Given the description of an element on the screen output the (x, y) to click on. 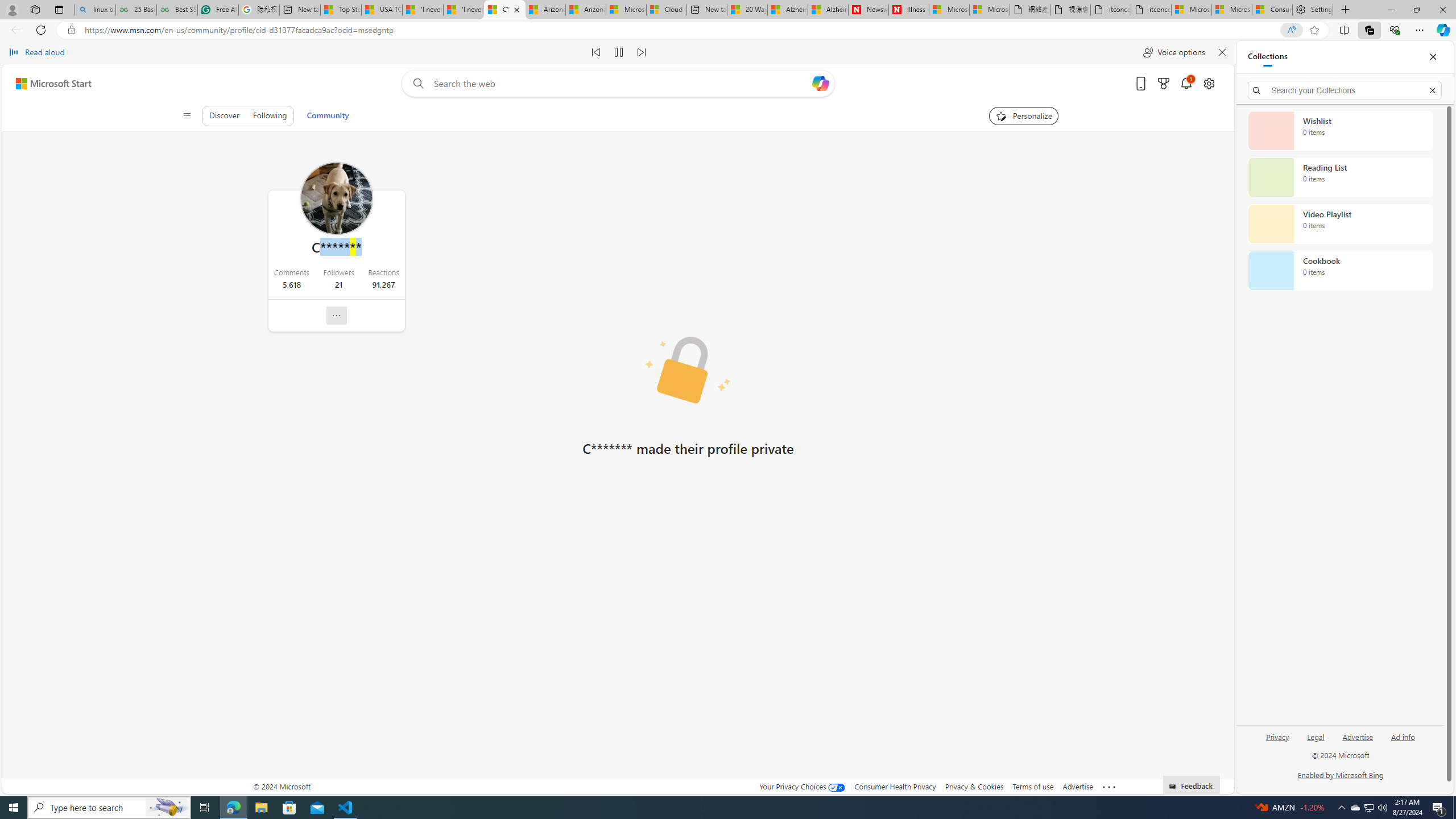
Read previous paragraph (596, 52)
Pause read aloud (Ctrl+Shift+U) (618, 52)
linux basic - Search (94, 9)
Class: feedback_link_icon-DS-EntryPoint1-1 (1173, 786)
Consumer Health Data Privacy Policy (1272, 9)
